Given the description of an element on the screen output the (x, y) to click on. 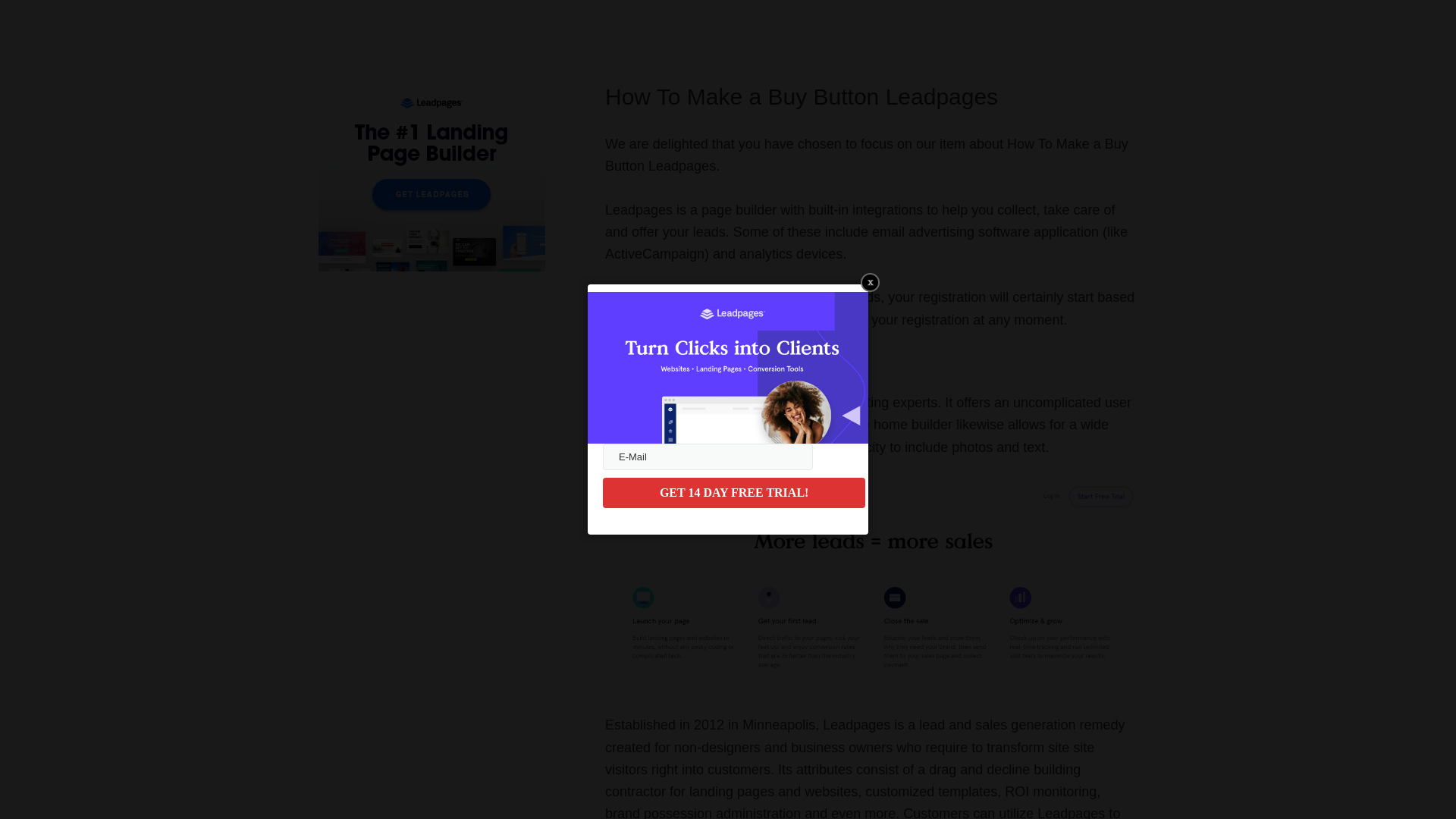
GET 14 DAY FREE TRIAL! (733, 492)
GET 14 DAY FREE TRIAL! (733, 492)
